Given the description of an element on the screen output the (x, y) to click on. 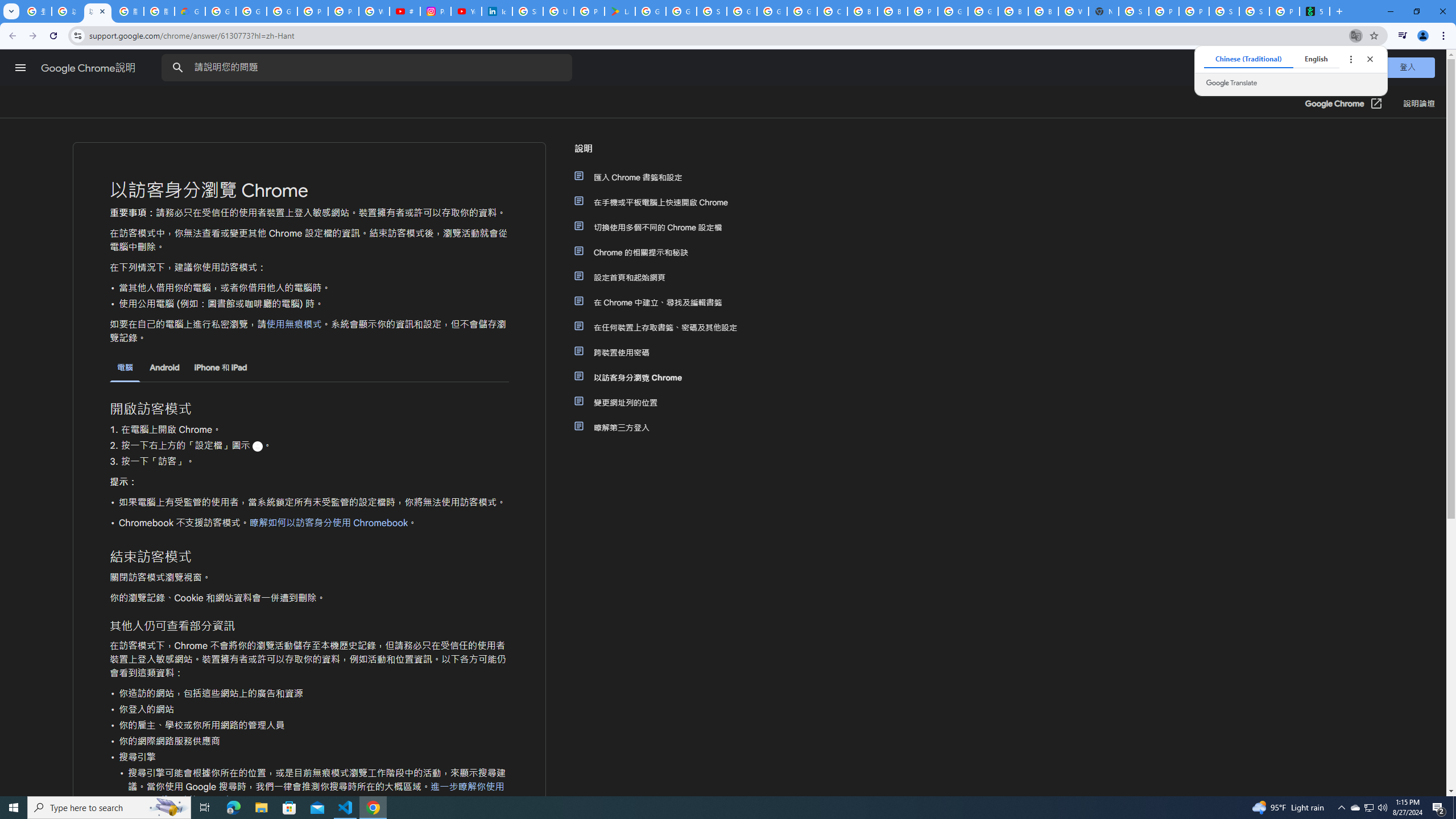
Android (164, 367)
Google Workspace - Specific Terms (681, 11)
Last Shelter: Survival - Apps on Google Play (619, 11)
Browse Chrome as a guest - Computer - Google Chrome Help (1012, 11)
Google Cloud Platform (982, 11)
